Given the description of an element on the screen output the (x, y) to click on. 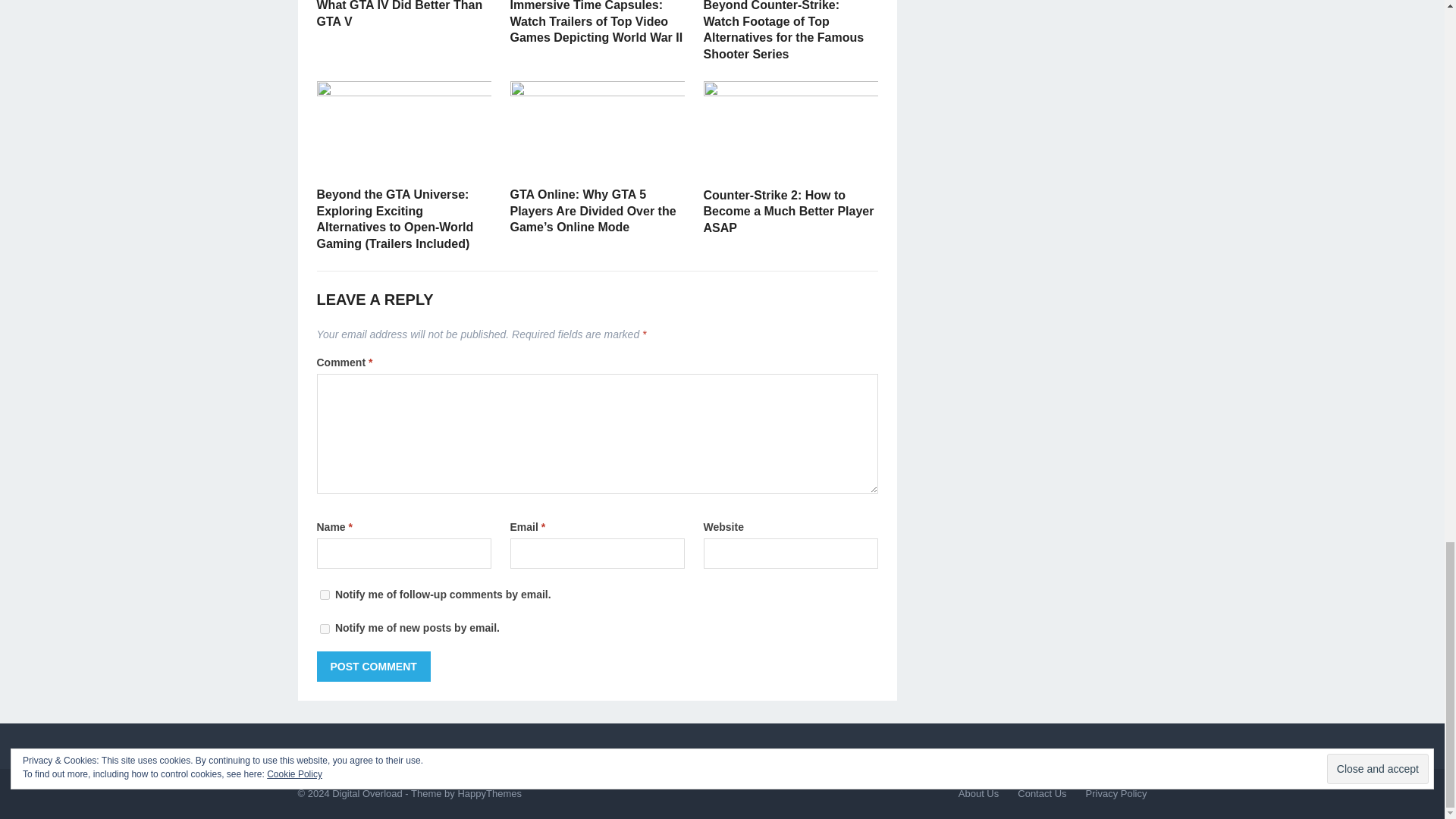
Counter-Strike 2: How to Become a Much Better Player ASAP (789, 211)
subscribe (325, 628)
Post Comment (373, 666)
Post Comment (373, 666)
subscribe (325, 594)
What GTA IV Did Better Than GTA V (400, 13)
